Given the description of an element on the screen output the (x, y) to click on. 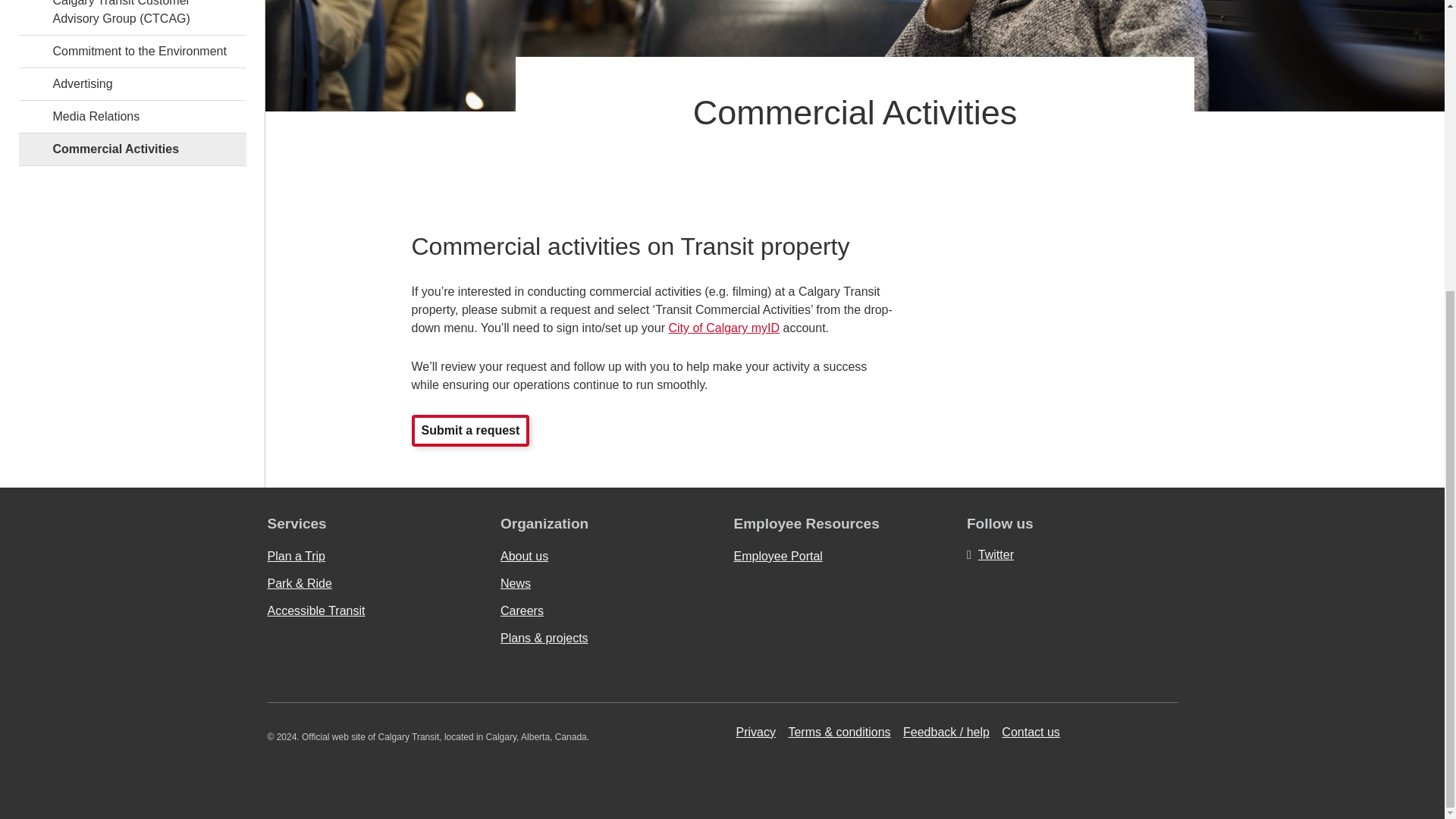
Media Relations (131, 116)
Advertising (131, 83)
Commercial Activities (131, 149)
Commitment to the Environment (131, 51)
